Given the description of an element on the screen output the (x, y) to click on. 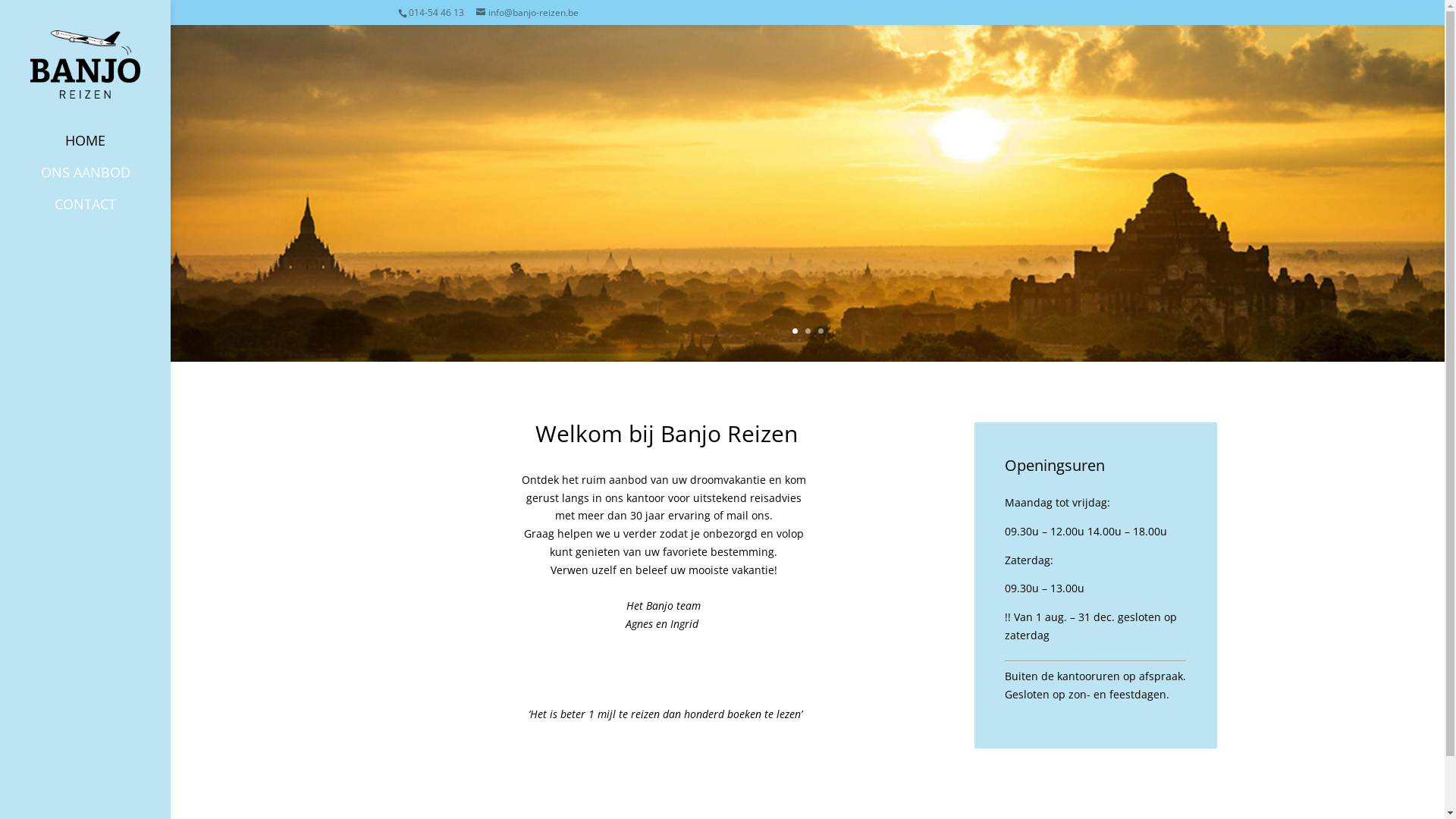
2 Element type: text (807, 330)
3 Element type: text (819, 330)
HOME Element type: text (100, 147)
ONS AANBOD Element type: text (100, 179)
1 Element type: text (794, 330)
info@banjo-reizen.be Element type: text (527, 12)
CONTACT Element type: text (100, 211)
